Given the description of an element on the screen output the (x, y) to click on. 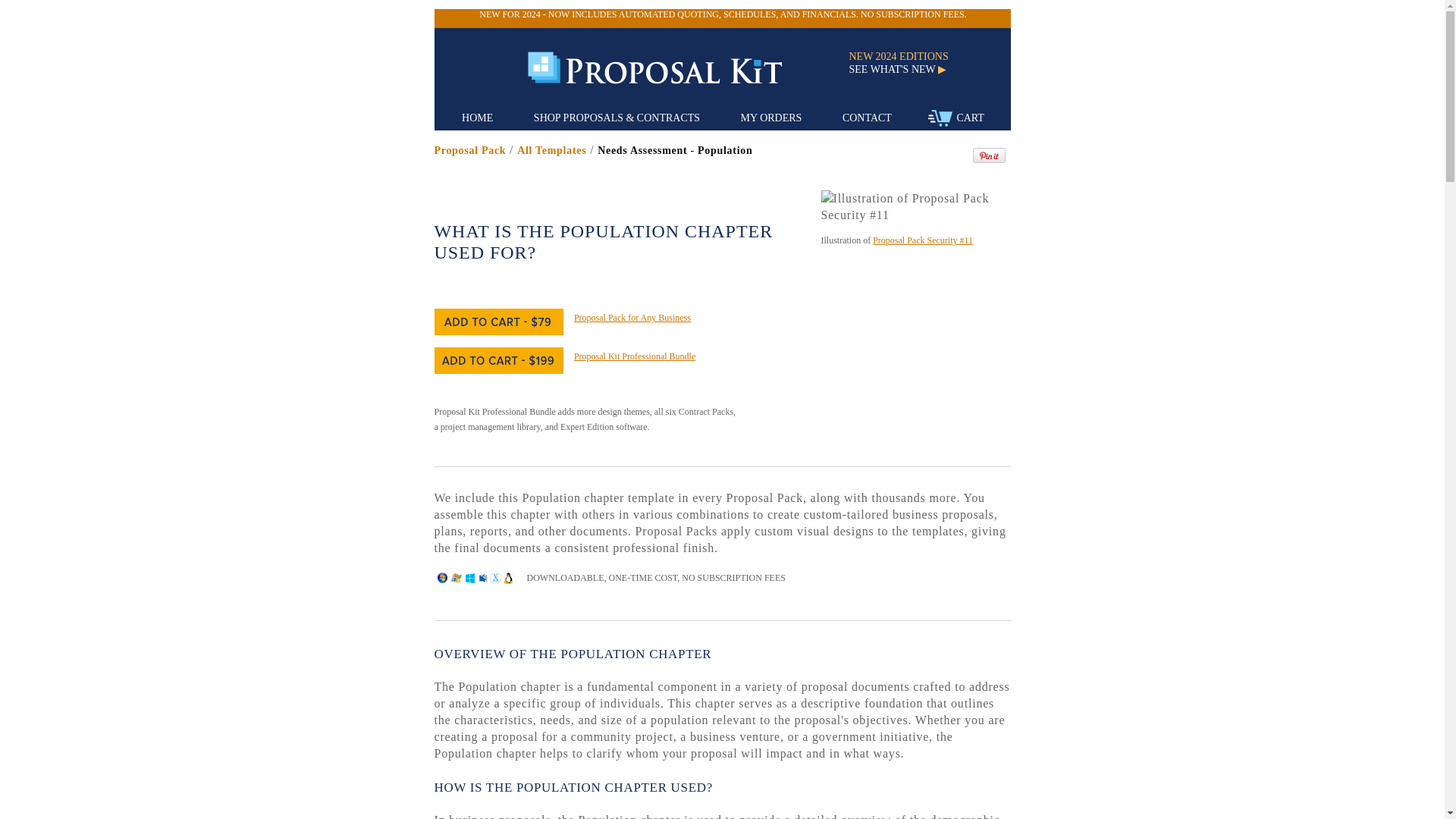
Shopping Cart (940, 118)
Major Proposal Kit version upgrade just released. (722, 14)
Proposal Kit Product Upgrades (905, 69)
Proposal Pack (469, 150)
Proposal Kit Professional Bundle (634, 356)
CART (956, 118)
Business Proposal Population Template (551, 150)
Proposal Kit - It's all About Trust (667, 68)
Proposal Pack for Any Business (631, 317)
Shop Proposal Kit Proposal and Contract Products (617, 118)
Shopping Cart Checkout and Download (956, 118)
HOME (477, 118)
How to Contact Proposal Kit (867, 118)
CONTACT (867, 118)
